Given the description of an element on the screen output the (x, y) to click on. 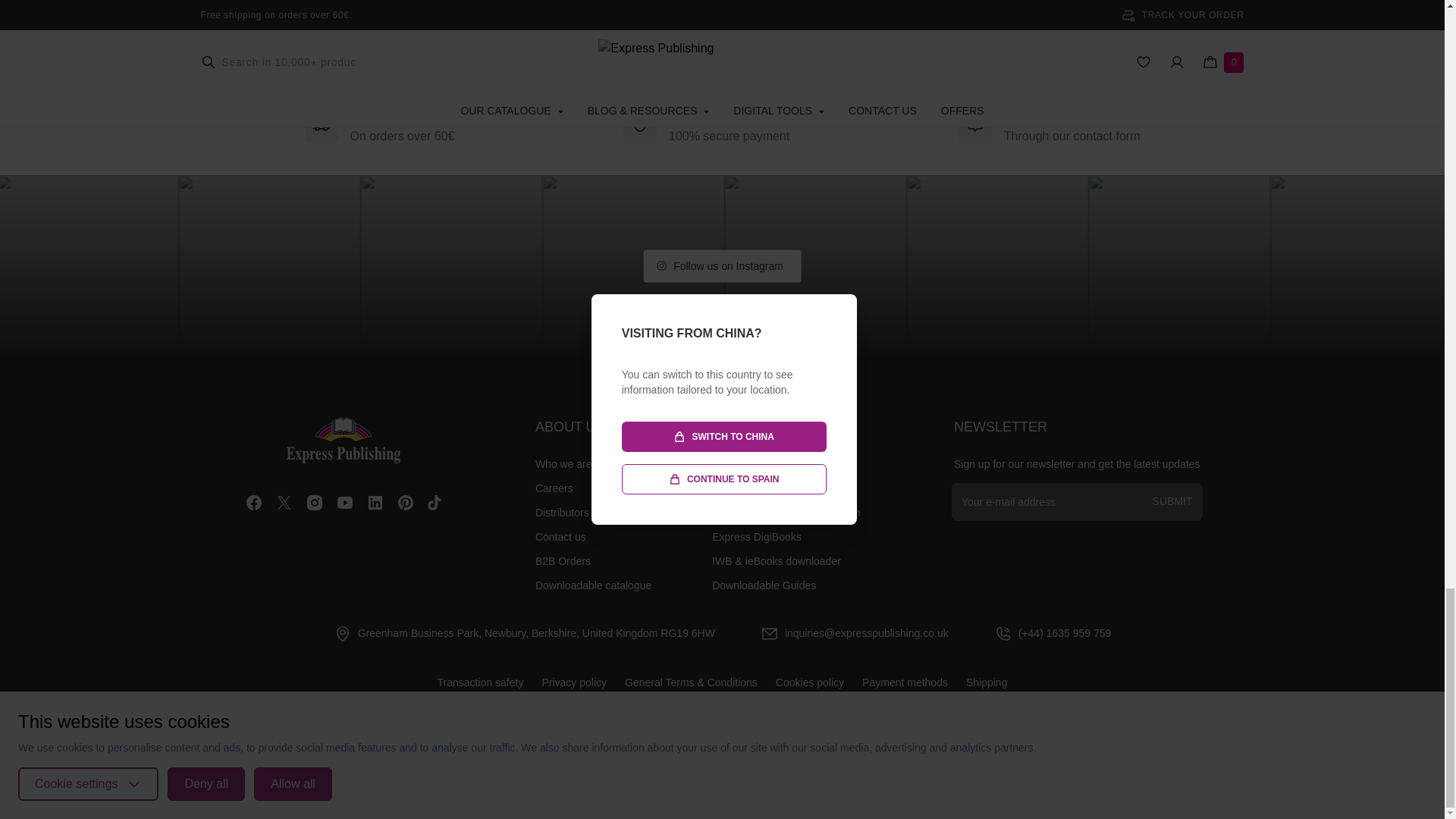
Follow us on Instagram (722, 265)
Instagram (313, 502)
Express Publishing (343, 440)
X (283, 502)
Youtube (343, 502)
Facebook (253, 502)
Linkedin (374, 502)
